Given the description of an element on the screen output the (x, y) to click on. 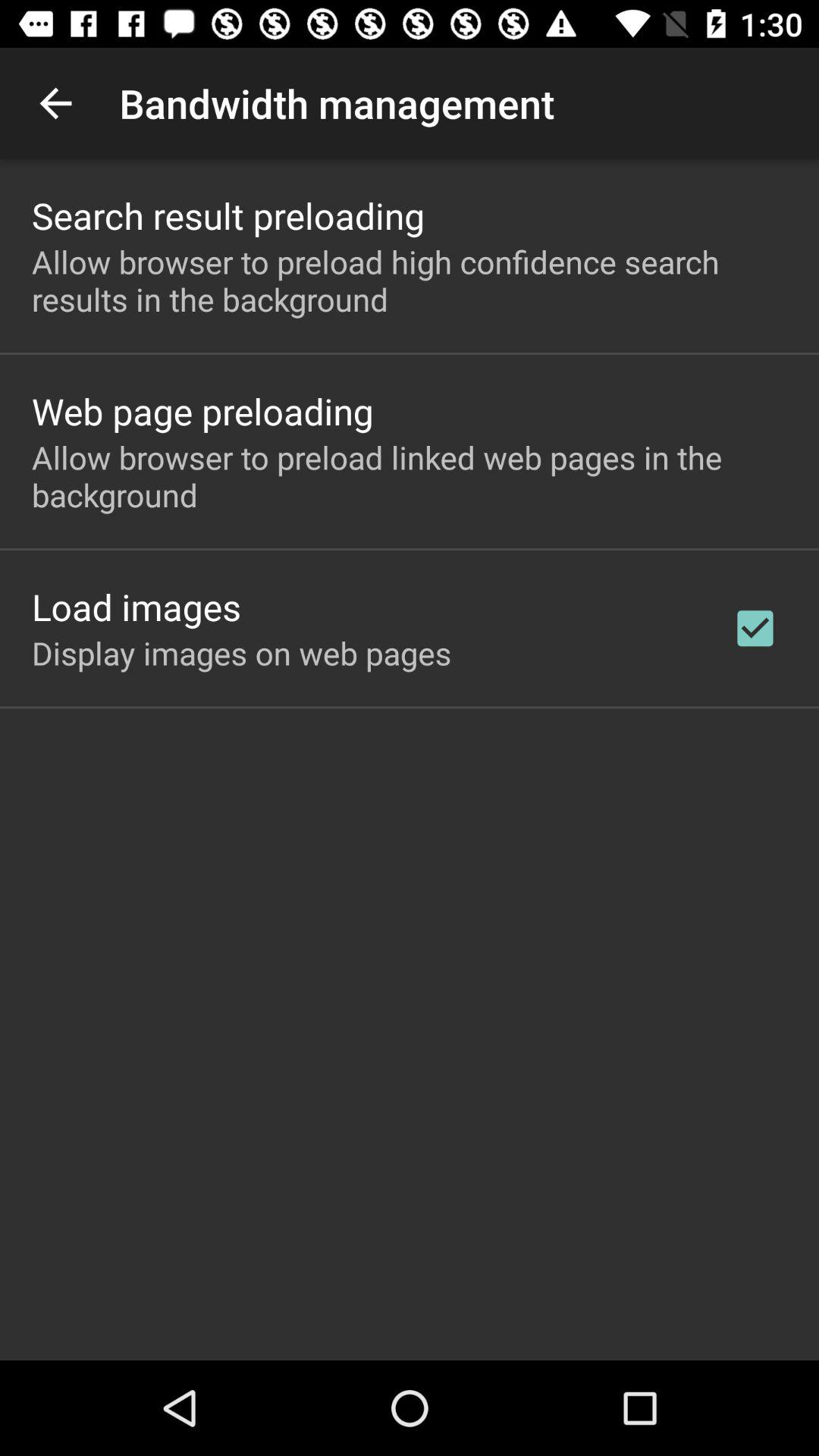
launch icon above display images on app (136, 606)
